Given the description of an element on the screen output the (x, y) to click on. 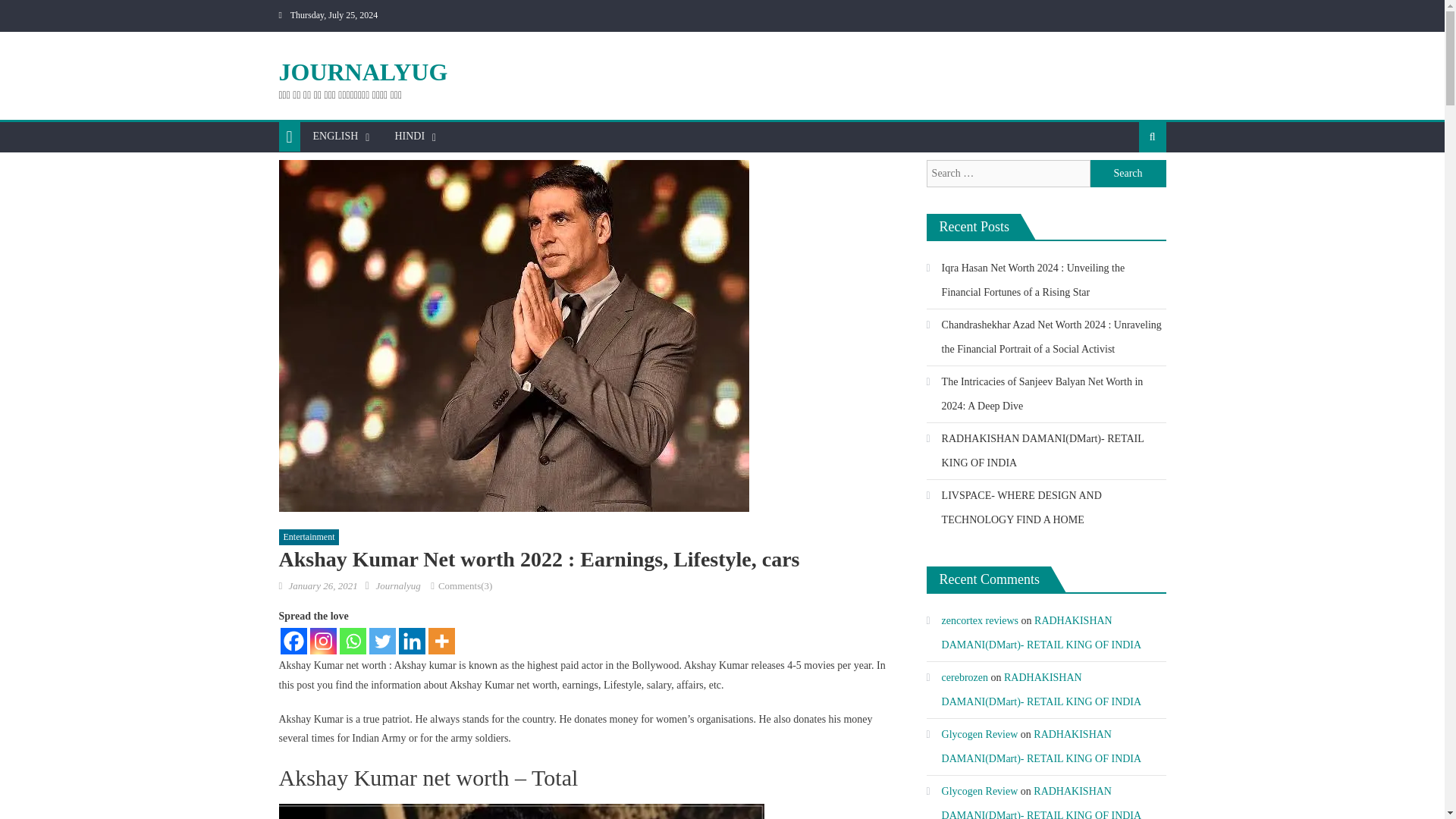
JOURNALYUG (363, 71)
Search (1128, 173)
More (441, 641)
Facebook (294, 641)
Journalyug (397, 585)
Instagram (322, 641)
Linkedin (411, 641)
Search (1128, 185)
January 26, 2021 (322, 585)
Twitter (381, 641)
Entertainment (309, 537)
Search (1128, 173)
HINDI (408, 136)
Whatsapp (352, 641)
Akshay Kumar Net worth (521, 811)
